Given the description of an element on the screen output the (x, y) to click on. 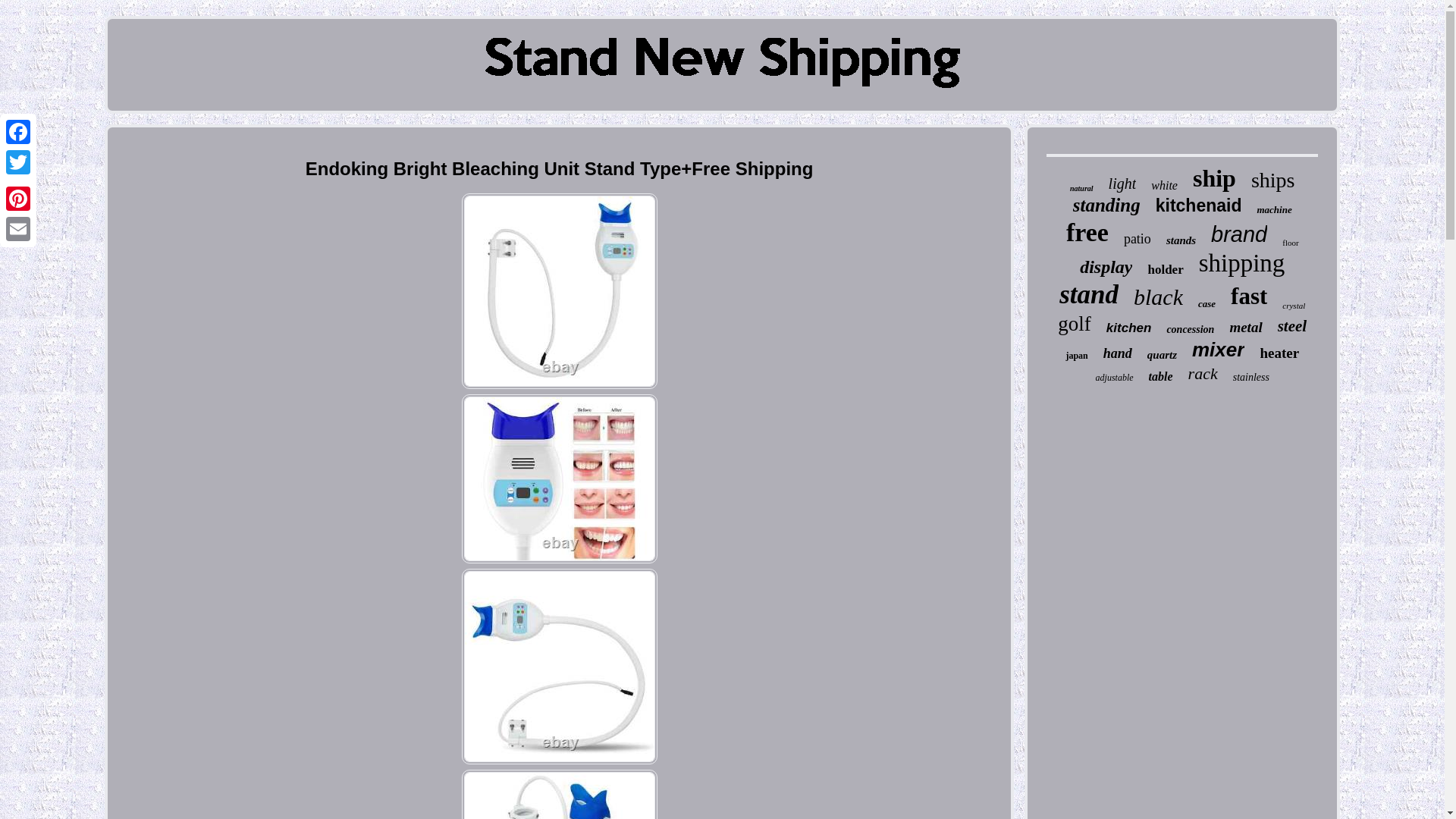
light (1122, 183)
kitchenaid (1198, 205)
ship (1214, 178)
case (1206, 304)
brand (1238, 234)
machine (1273, 209)
steel (1292, 325)
stands (1180, 240)
stand (1088, 295)
shipping (1241, 263)
